Given the description of an element on the screen output the (x, y) to click on. 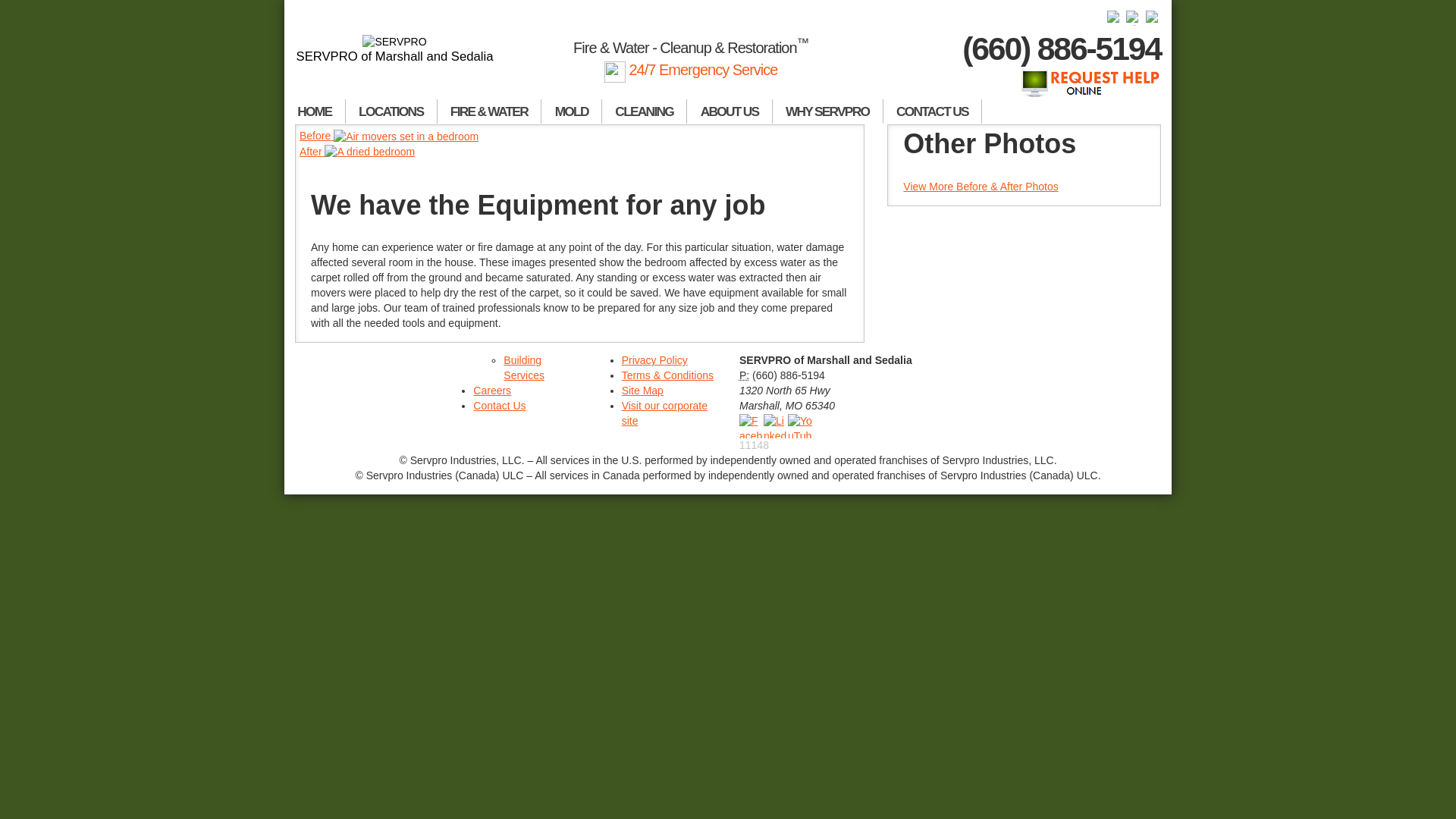
MOLD (571, 111)
LOCATIONS (392, 111)
HOME (314, 111)
ABOUT US (729, 111)
CLEANING (644, 111)
SERVPRO of Marshall and Sedalia (395, 49)
